Given the description of an element on the screen output the (x, y) to click on. 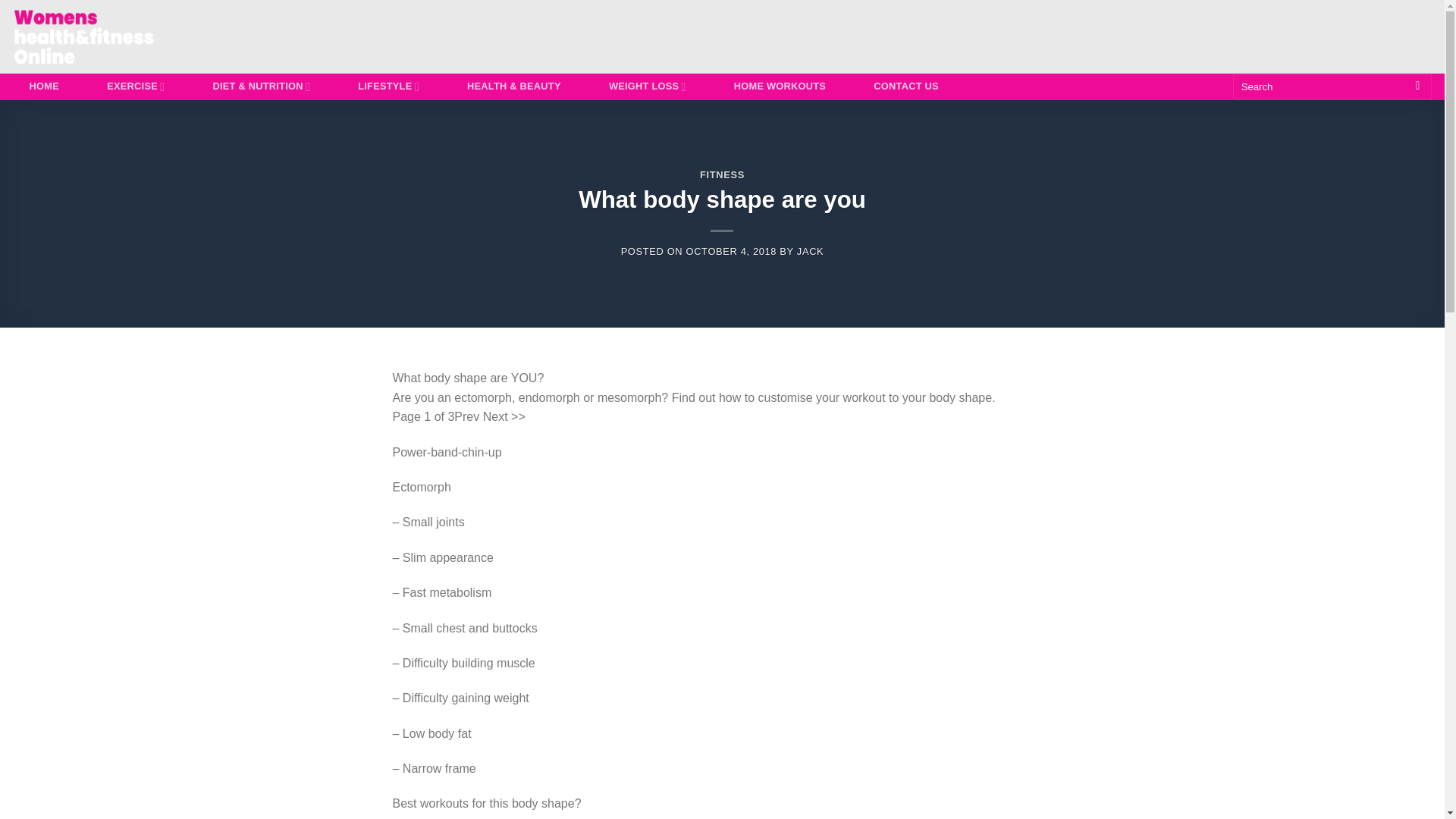
My Site - Just another WordPress site (100, 36)
EXERCISE (136, 86)
FITNESS (722, 174)
HOME WORKOUTS (779, 86)
LIFESTYLE (388, 86)
OCTOBER 4, 2018 (730, 251)
JACK (810, 251)
CONTACT US (905, 86)
HOME (44, 86)
WEIGHT LOSS (646, 86)
